Given the description of an element on the screen output the (x, y) to click on. 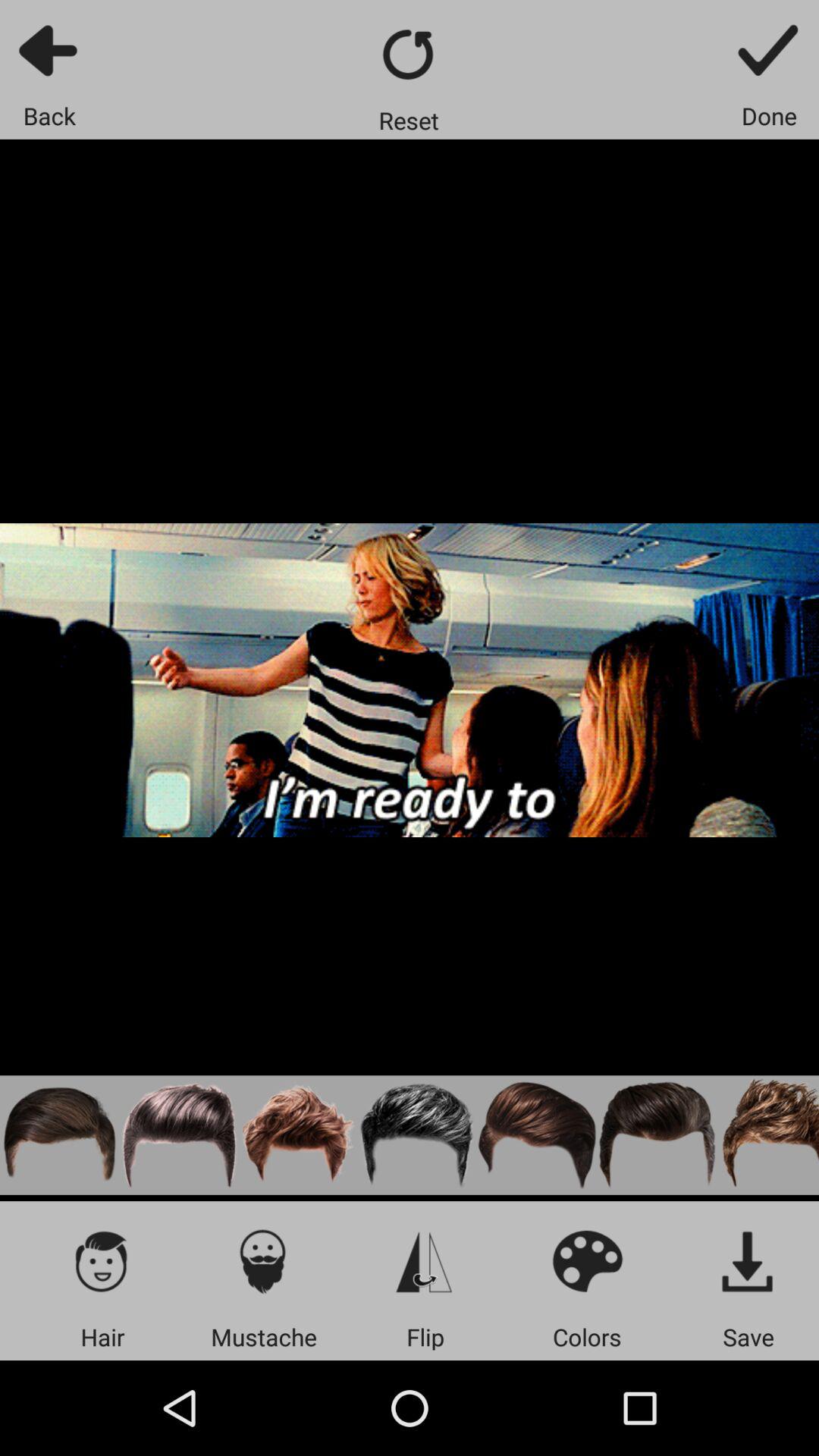
select this style button (417, 1134)
